Given the description of an element on the screen output the (x, y) to click on. 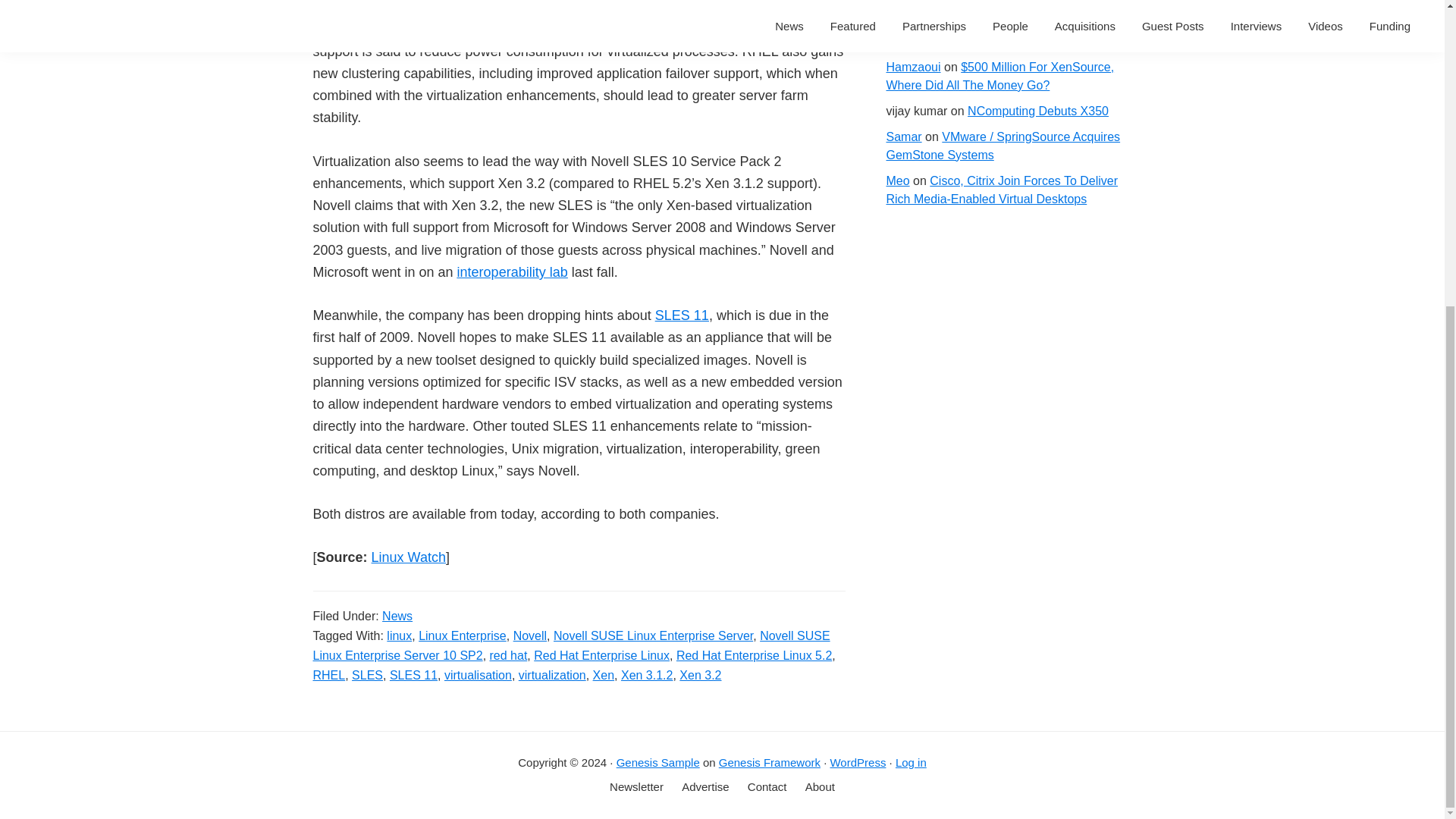
Novell (530, 635)
Novell SUSE Linux Enterprise Server (652, 635)
linux (399, 635)
virtualisation (478, 675)
Red Hat Enterprise Linux 5.2 (754, 655)
red hat (508, 655)
Novell SUSE Linux Enterprise Server 10 SP2 (571, 645)
SLES (367, 675)
News (396, 615)
Linux Watch (408, 557)
virtualization (552, 675)
SLES 11 (682, 314)
Linux Enterprise (462, 635)
SLES 11 (414, 675)
interoperability lab (512, 272)
